Given the description of an element on the screen output the (x, y) to click on. 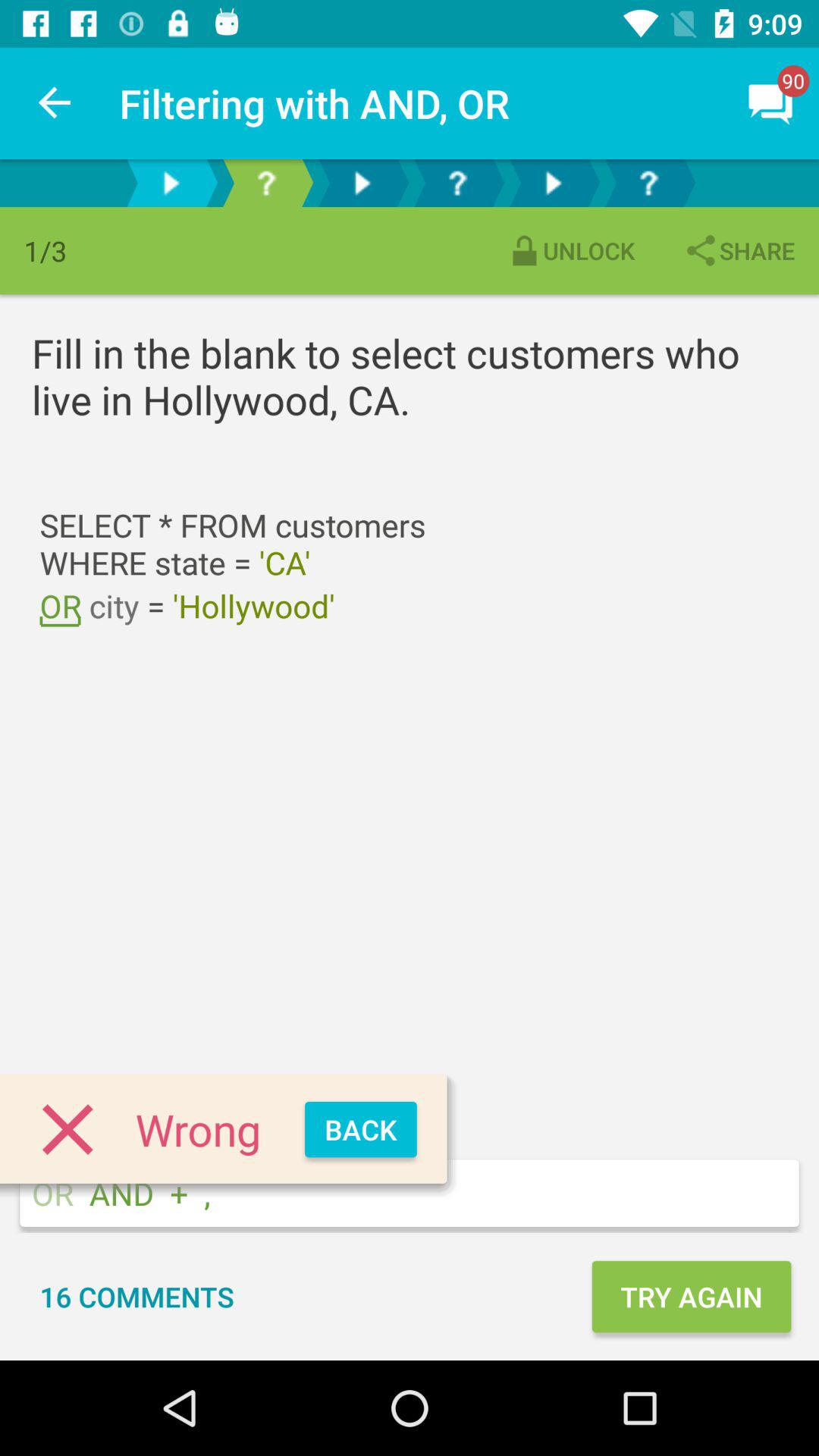
go forward (170, 183)
